Given the description of an element on the screen output the (x, y) to click on. 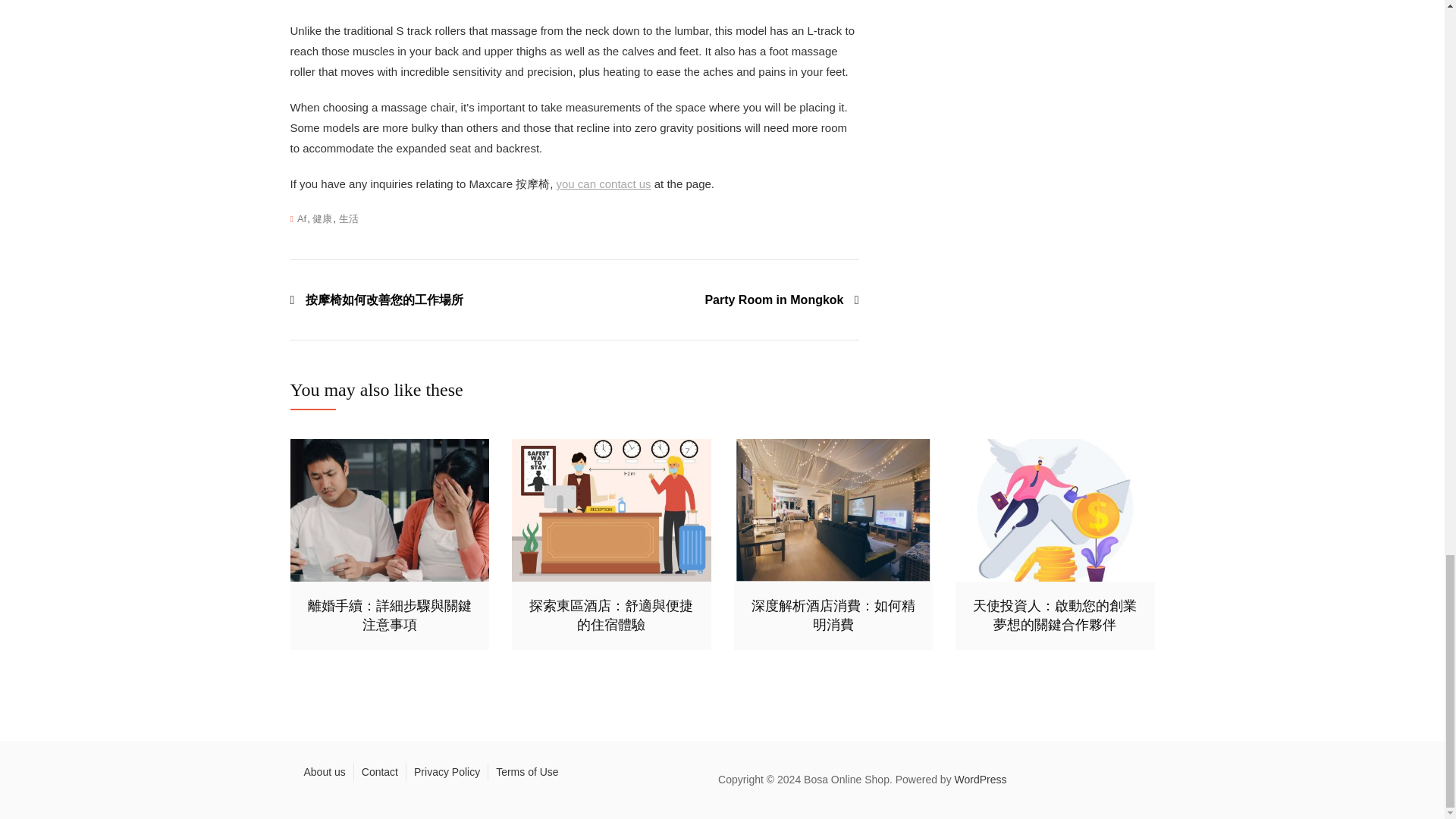
you can contact us (603, 183)
